Given the description of an element on the screen output the (x, y) to click on. 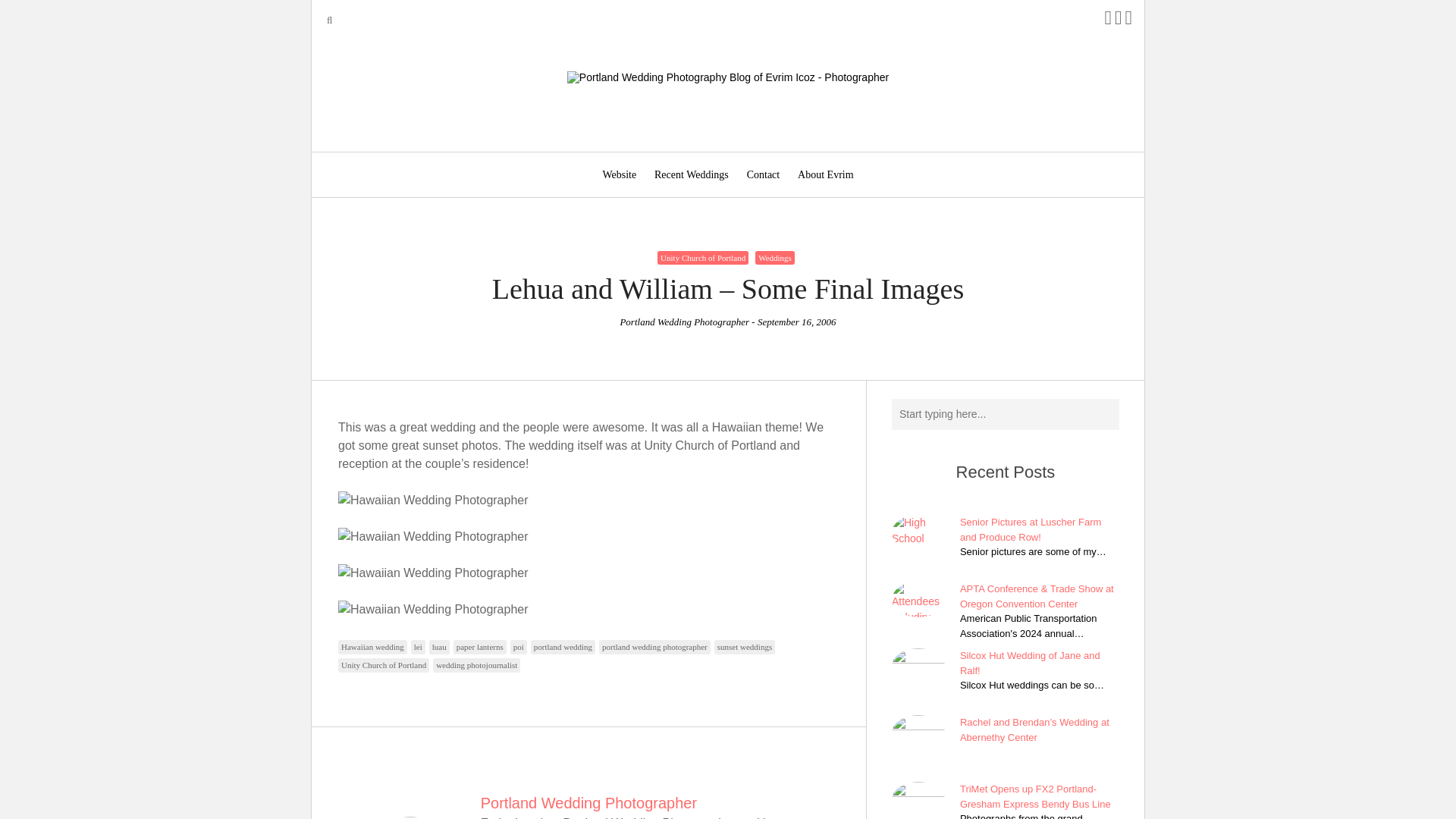
About Evrim (825, 175)
Weddings (774, 257)
Unity Church of Portland (383, 665)
Hawaiian Wedding Photographer (432, 500)
lei (417, 646)
Facebook (1107, 20)
Unity Church of Portland (703, 257)
Kauai Wedding Photographer (432, 609)
Portland Wedding Photographer (588, 802)
paper lanterns (479, 646)
sunset weddings (744, 646)
Portland Wedding Photographer (684, 321)
Recent Weddings (691, 175)
Instagram (1118, 20)
